Given the description of an element on the screen output the (x, y) to click on. 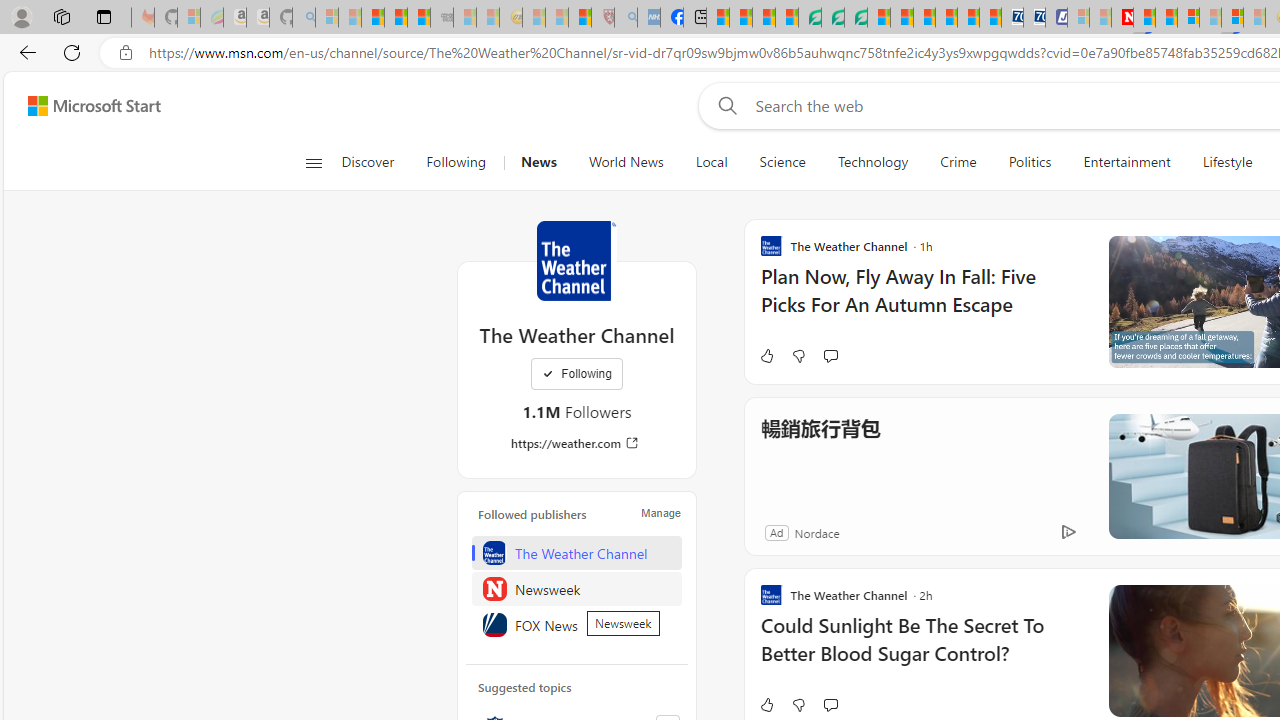
Local - MSN (580, 17)
Terms of Use Agreement (832, 17)
